Given the description of an element on the screen output the (x, y) to click on. 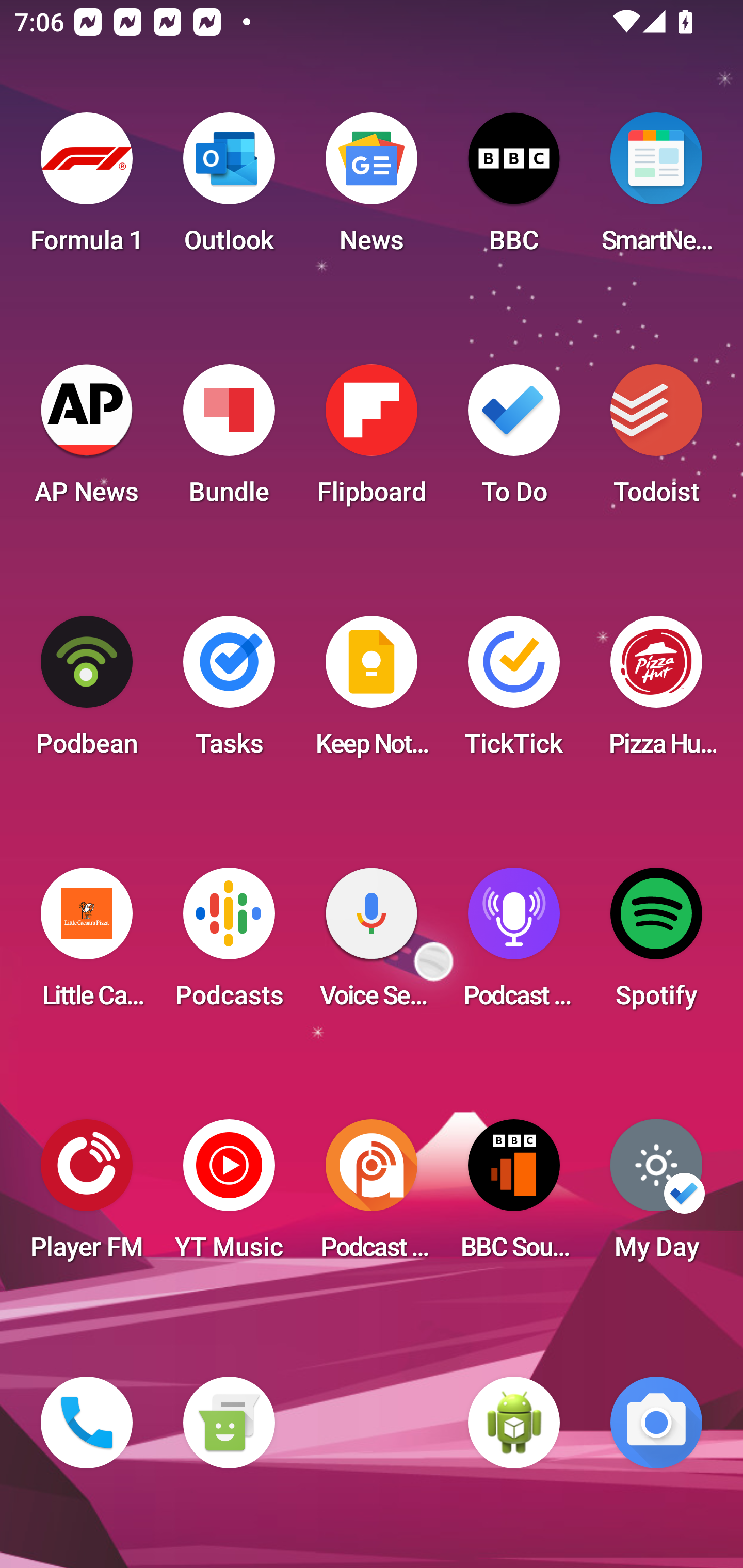
Formula 1 (86, 188)
Outlook (228, 188)
News (371, 188)
BBC (513, 188)
SmartNews (656, 188)
AP News (86, 440)
Bundle (228, 440)
Flipboard (371, 440)
To Do (513, 440)
Todoist (656, 440)
Podbean (86, 692)
Tasks (228, 692)
Keep Notes (371, 692)
TickTick (513, 692)
Pizza Hut HK & Macau (656, 692)
Little Caesars Pizza (86, 943)
Podcasts (228, 943)
Voice Search (371, 943)
Podcast Player (513, 943)
Spotify (656, 943)
Player FM (86, 1195)
YT Music (228, 1195)
Podcast Addict (371, 1195)
BBC Sounds (513, 1195)
My Day (656, 1195)
Phone (86, 1422)
Messaging (228, 1422)
WebView Browser Tester (513, 1422)
Camera (656, 1422)
